Given the description of an element on the screen output the (x, y) to click on. 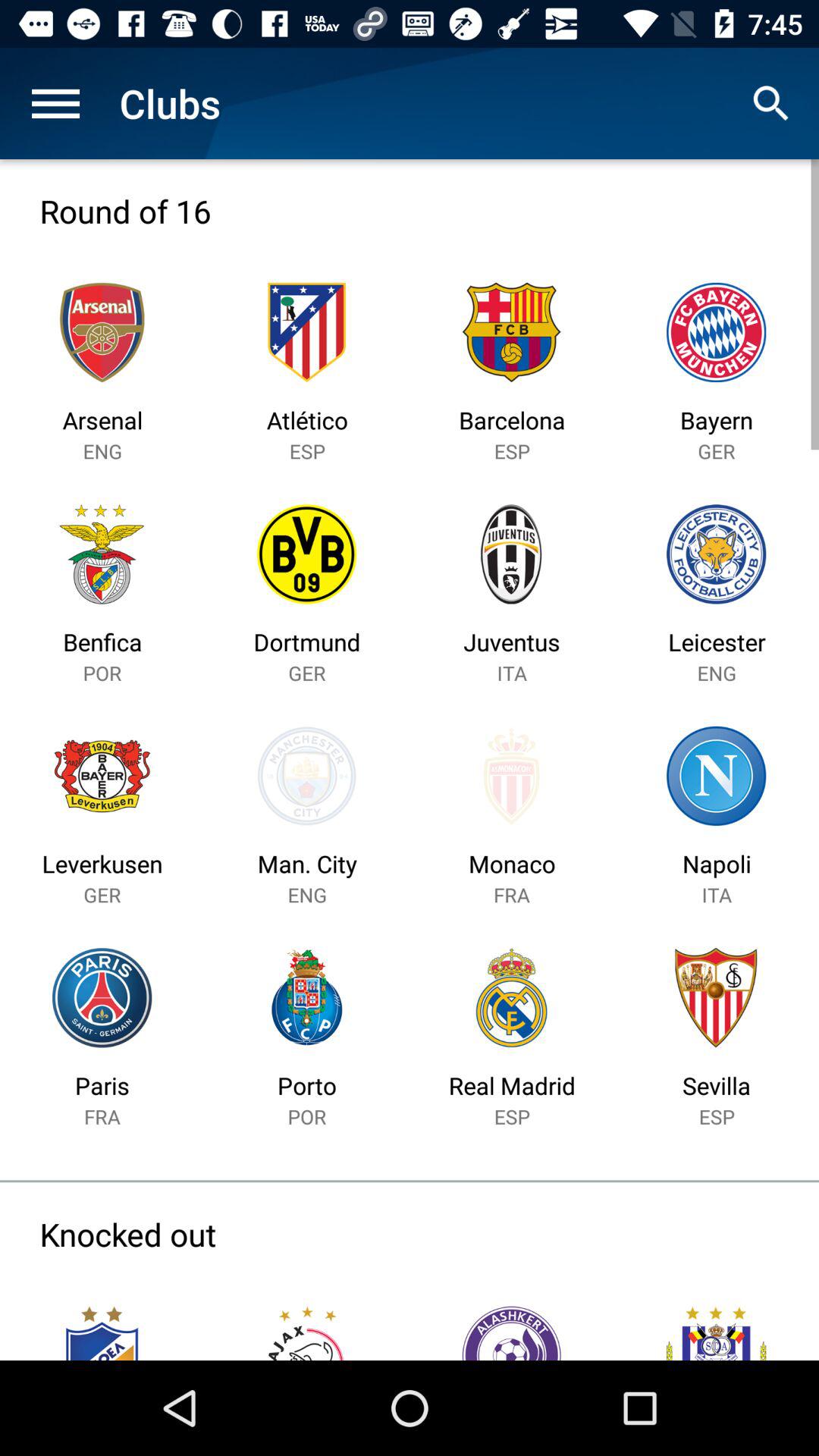
press the item to the left of the clubs (55, 103)
